Given the description of an element on the screen output the (x, y) to click on. 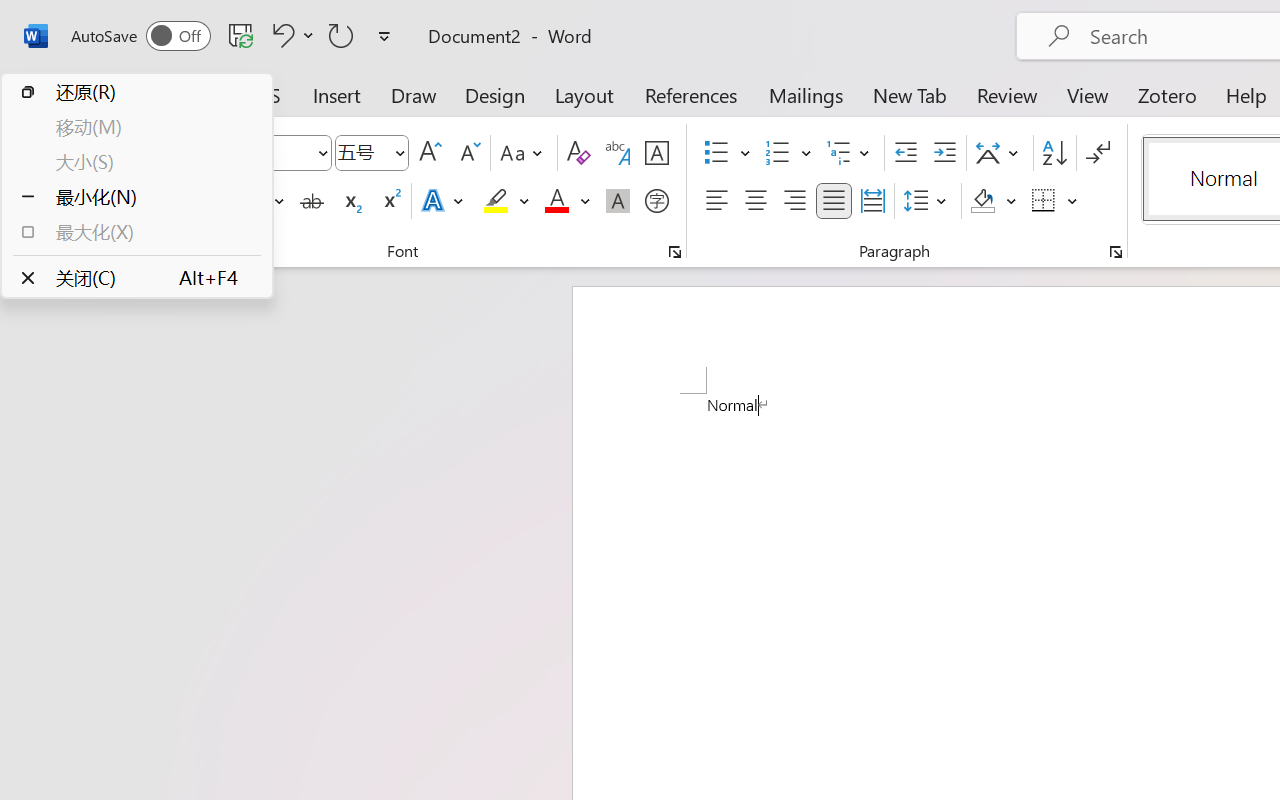
Bullets (716, 153)
Quick Access Toolbar (233, 36)
Clear Formatting (578, 153)
Numbering (788, 153)
Repeat Doc Close (341, 35)
Text Highlight Color Yellow (495, 201)
Layout (584, 94)
New Tab (909, 94)
Increase Indent (944, 153)
Home (127, 94)
Undo Apply Quick Style (290, 35)
Shrink Font (468, 153)
Text Effects and Typography (444, 201)
Font... (675, 252)
